Given the description of an element on the screen output the (x, y) to click on. 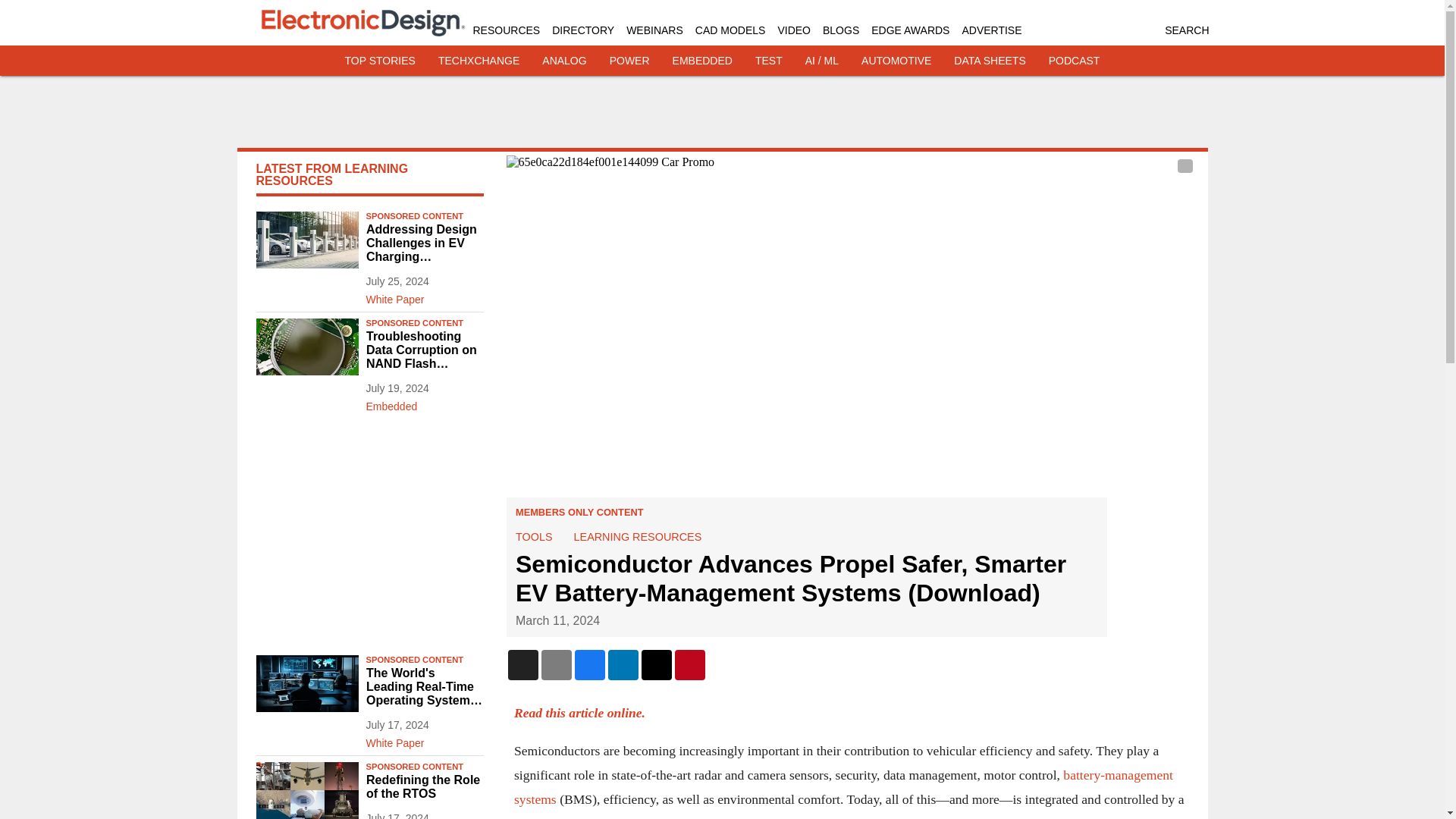
DATA SHEETS (989, 60)
Redefining the Role of the RTOS (424, 786)
White Paper (424, 296)
Addressing Design Challenges in EV Charging Infrastructure (424, 242)
TOP STORIES (379, 60)
PODCAST (1074, 60)
Embedded (424, 402)
VIDEO (793, 30)
DIRECTORY (582, 30)
